Given the description of an element on the screen output the (x, y) to click on. 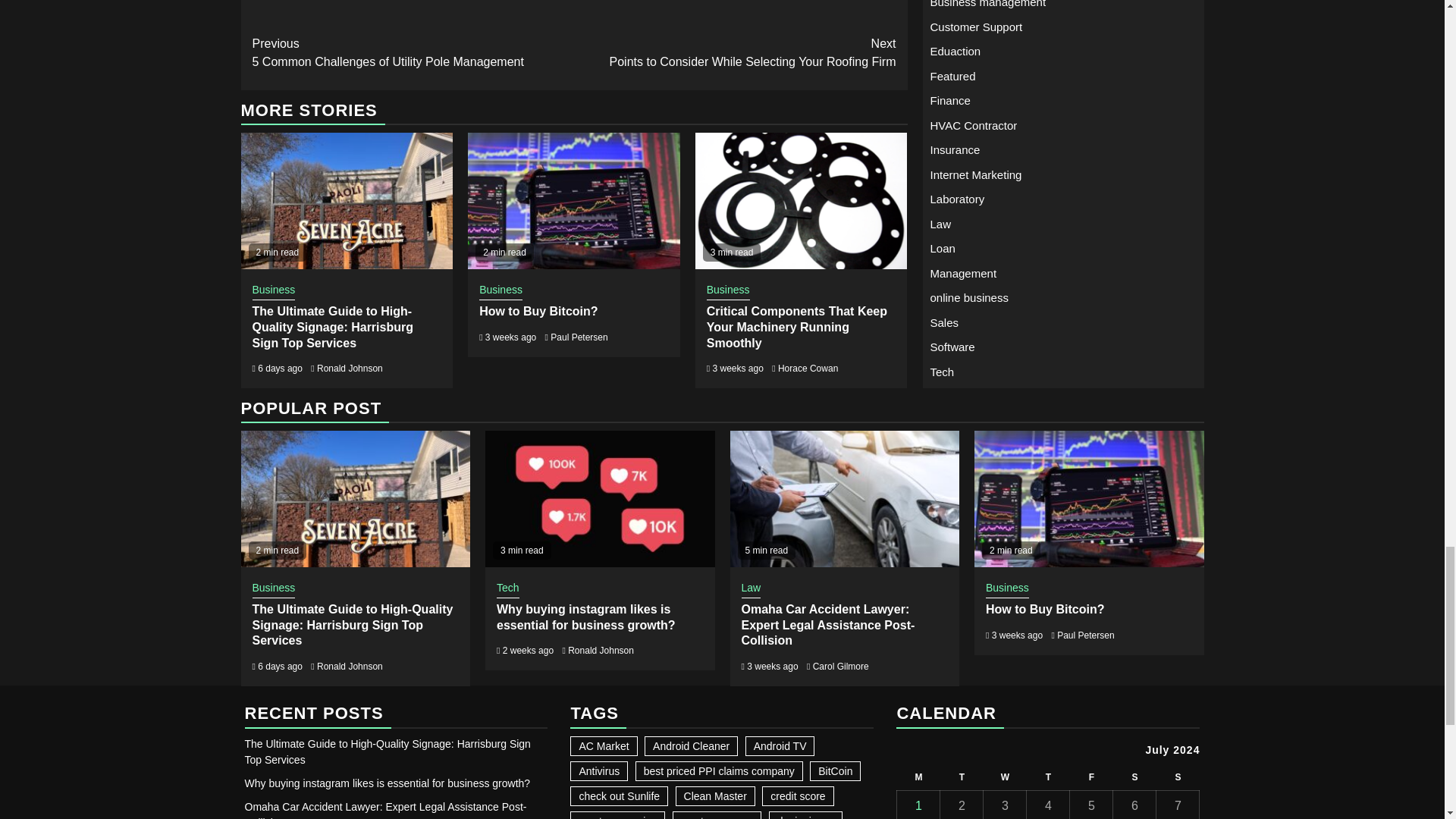
Saturday (1134, 777)
Business (273, 290)
Business (734, 53)
How to Buy Bitcoin? (500, 290)
Ronald Johnson (537, 310)
Business (349, 368)
Paul Petersen (727, 290)
Tuesday (578, 337)
Sunday (962, 777)
Thursday (1177, 777)
Wednesday (1048, 777)
